Given the description of an element on the screen output the (x, y) to click on. 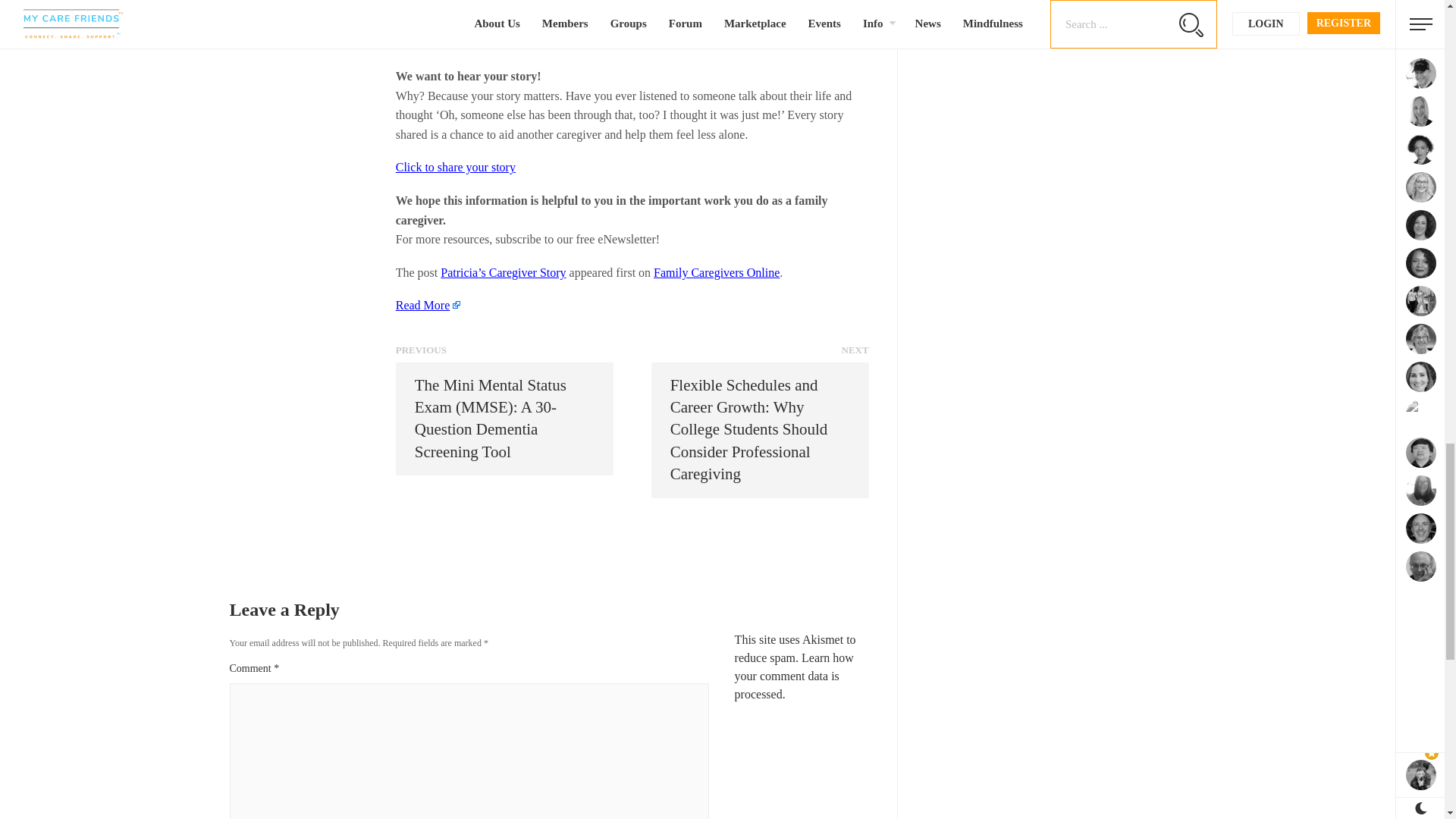
Patricia from DC. via (487, 42)
Click to share your story (455, 166)
Family Caregivers Online (715, 272)
